Given the description of an element on the screen output the (x, y) to click on. 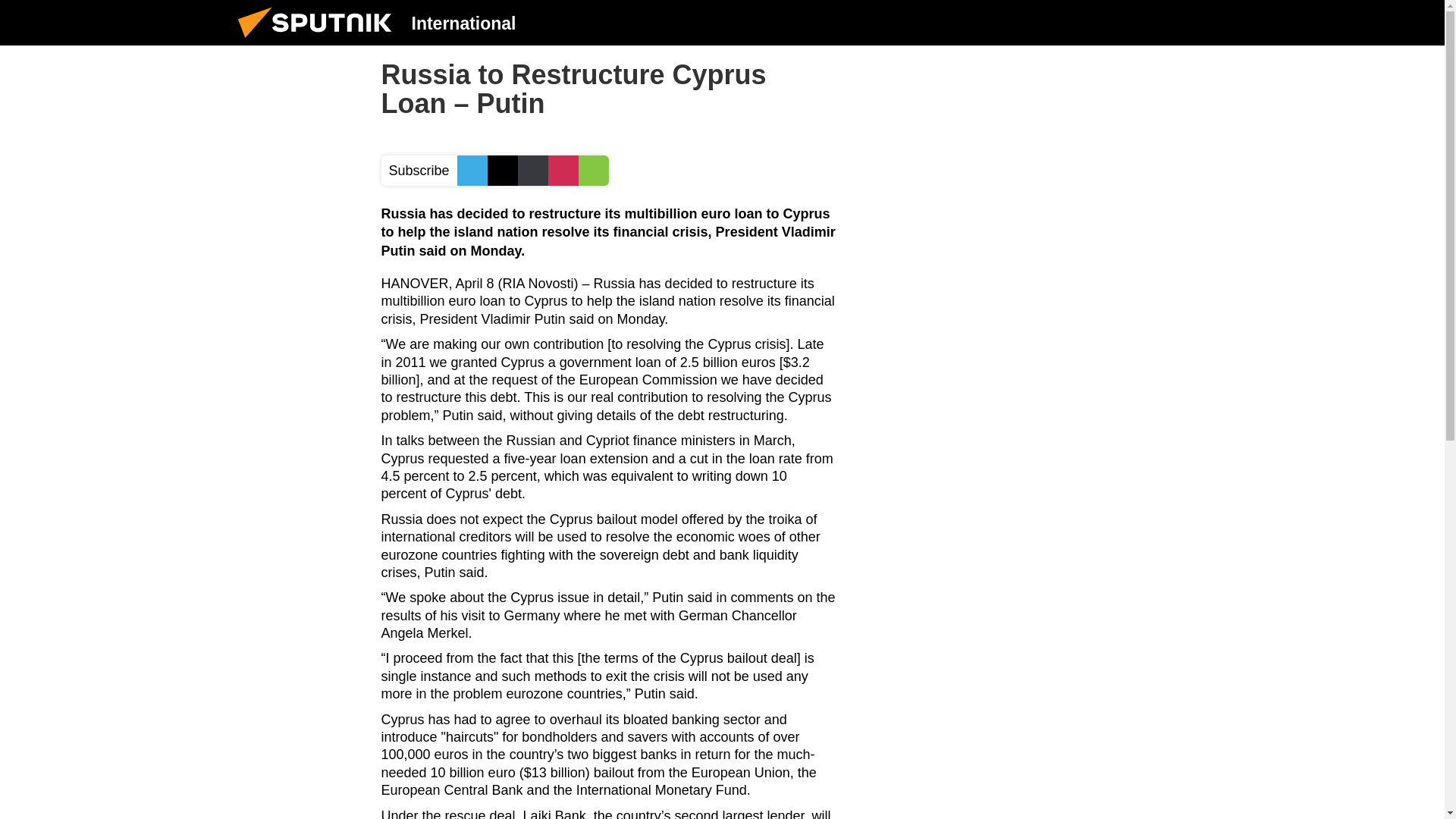
Chats (1199, 22)
Sputnik International (319, 41)
Authorization (1123, 22)
